Given the description of an element on the screen output the (x, y) to click on. 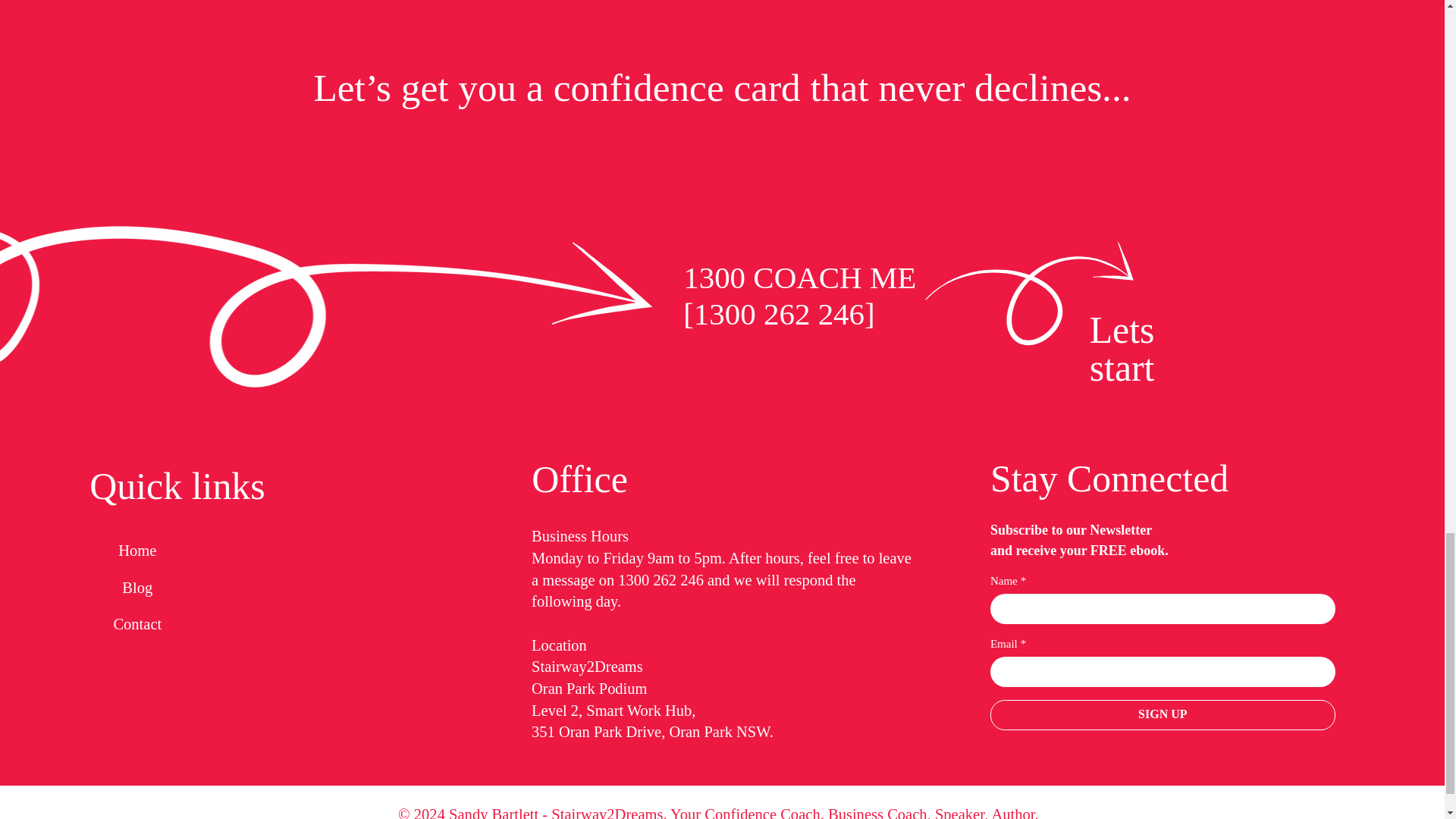
Contact (136, 548)
SIGN UP (1162, 639)
Blog (136, 511)
Home (136, 474)
